Given the description of an element on the screen output the (x, y) to click on. 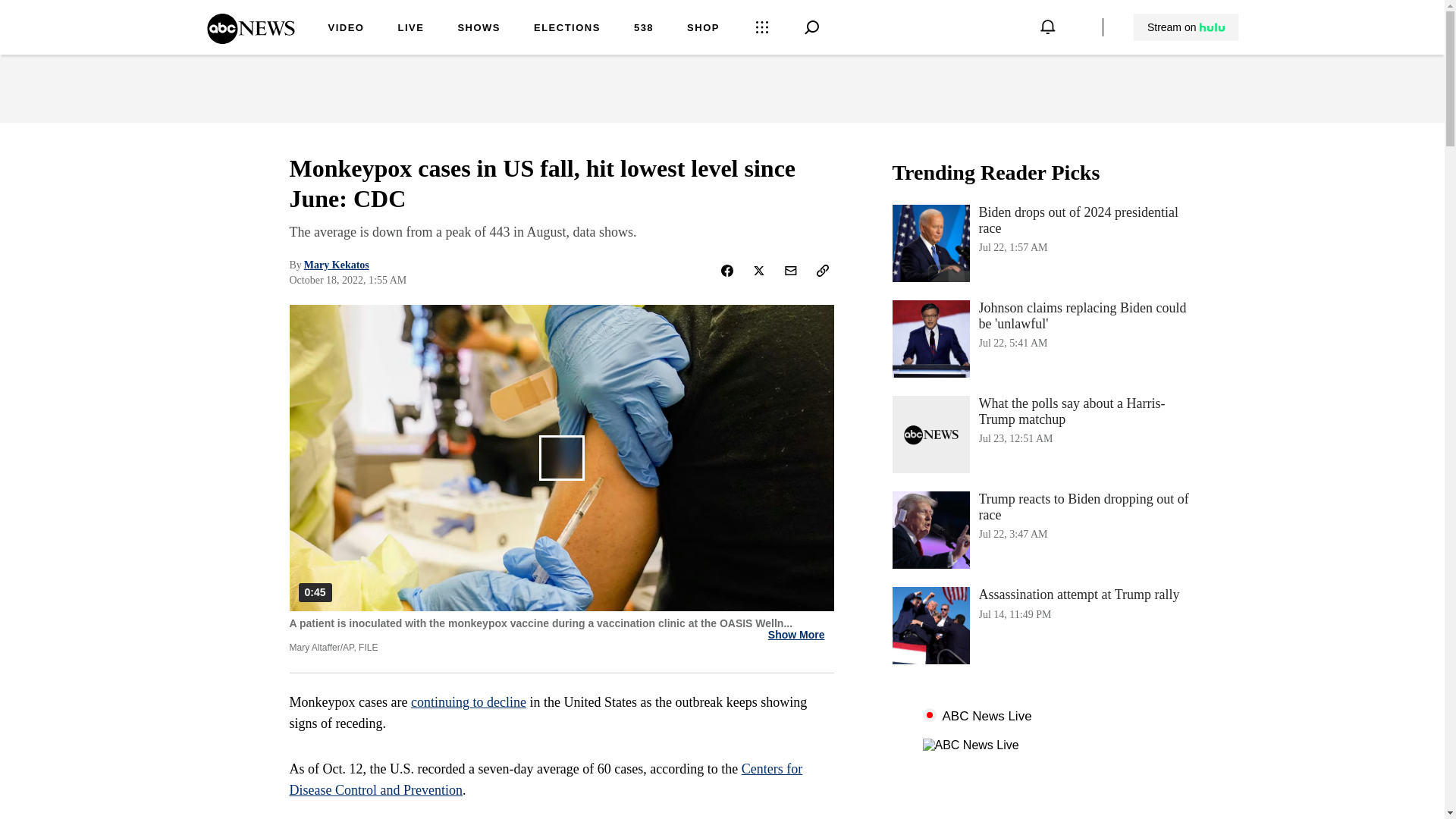
SHOP (703, 28)
SHOWS (478, 28)
Mary Kekatos (336, 265)
Show More (1043, 529)
ABC News (796, 634)
LIVE (250, 38)
ELECTIONS (410, 28)
Centers for Disease Control and Prevention (566, 28)
continuing to decline (546, 779)
Stream on (467, 702)
Stream on (1186, 26)
